Given the description of an element on the screen output the (x, y) to click on. 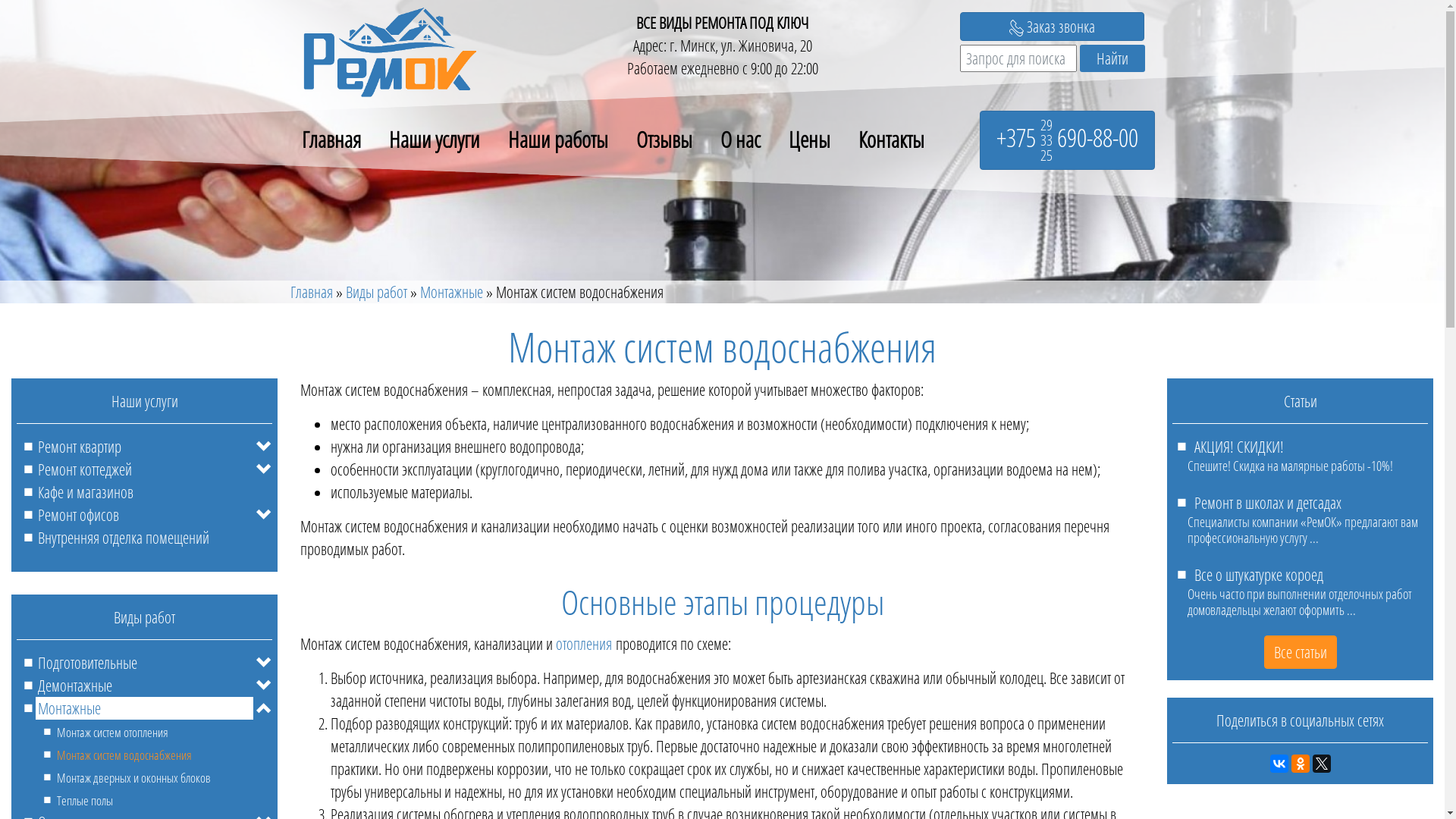
Twitter Element type: hover (1320, 763)
